Given the description of an element on the screen output the (x, y) to click on. 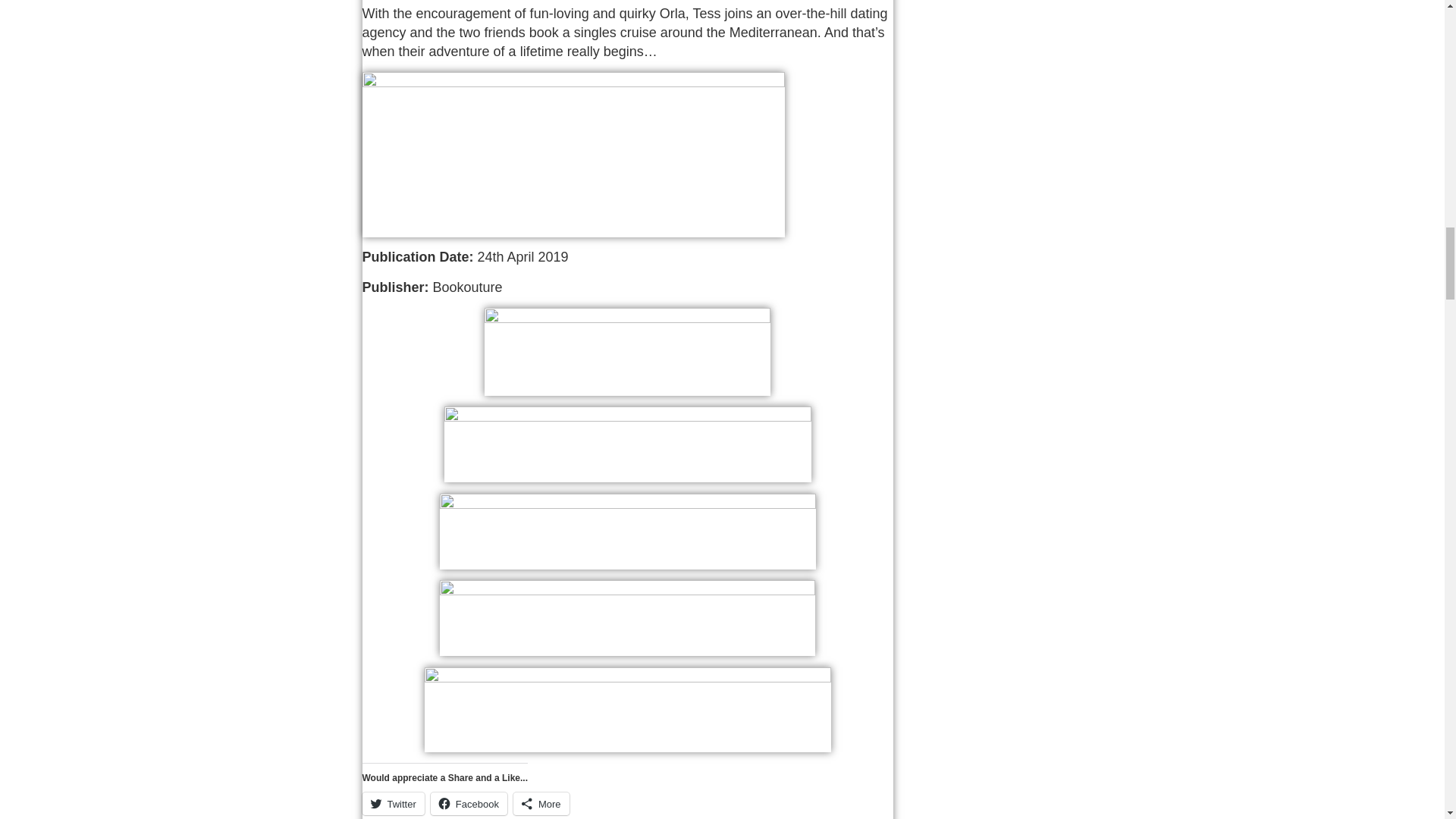
Twitter (393, 803)
Click to share on Facebook (468, 803)
Click to share on Twitter (393, 803)
